Given the description of an element on the screen output the (x, y) to click on. 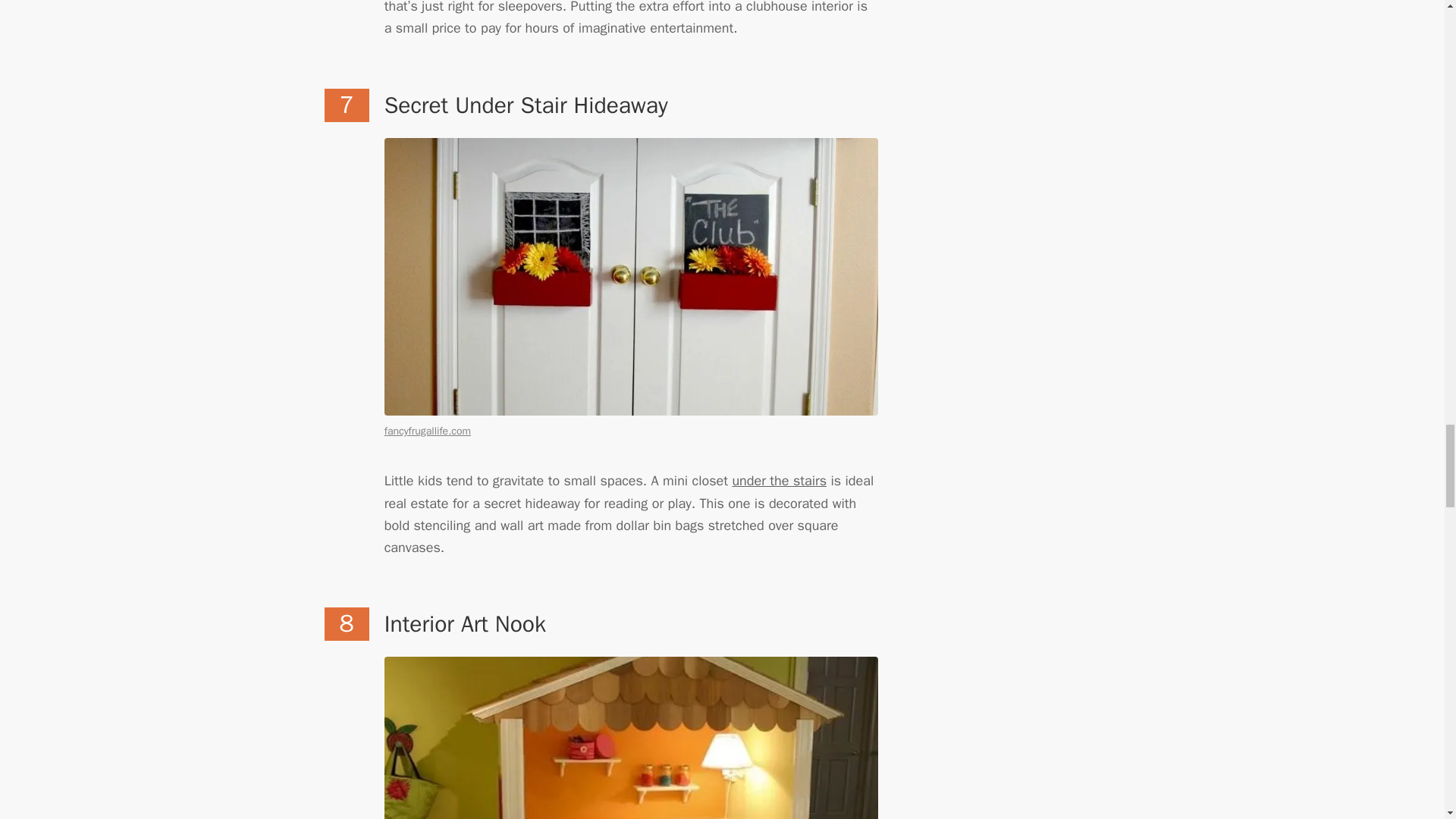
17 Clever Uses for the Space Under the Stairs (779, 480)
